Given the description of an element on the screen output the (x, y) to click on. 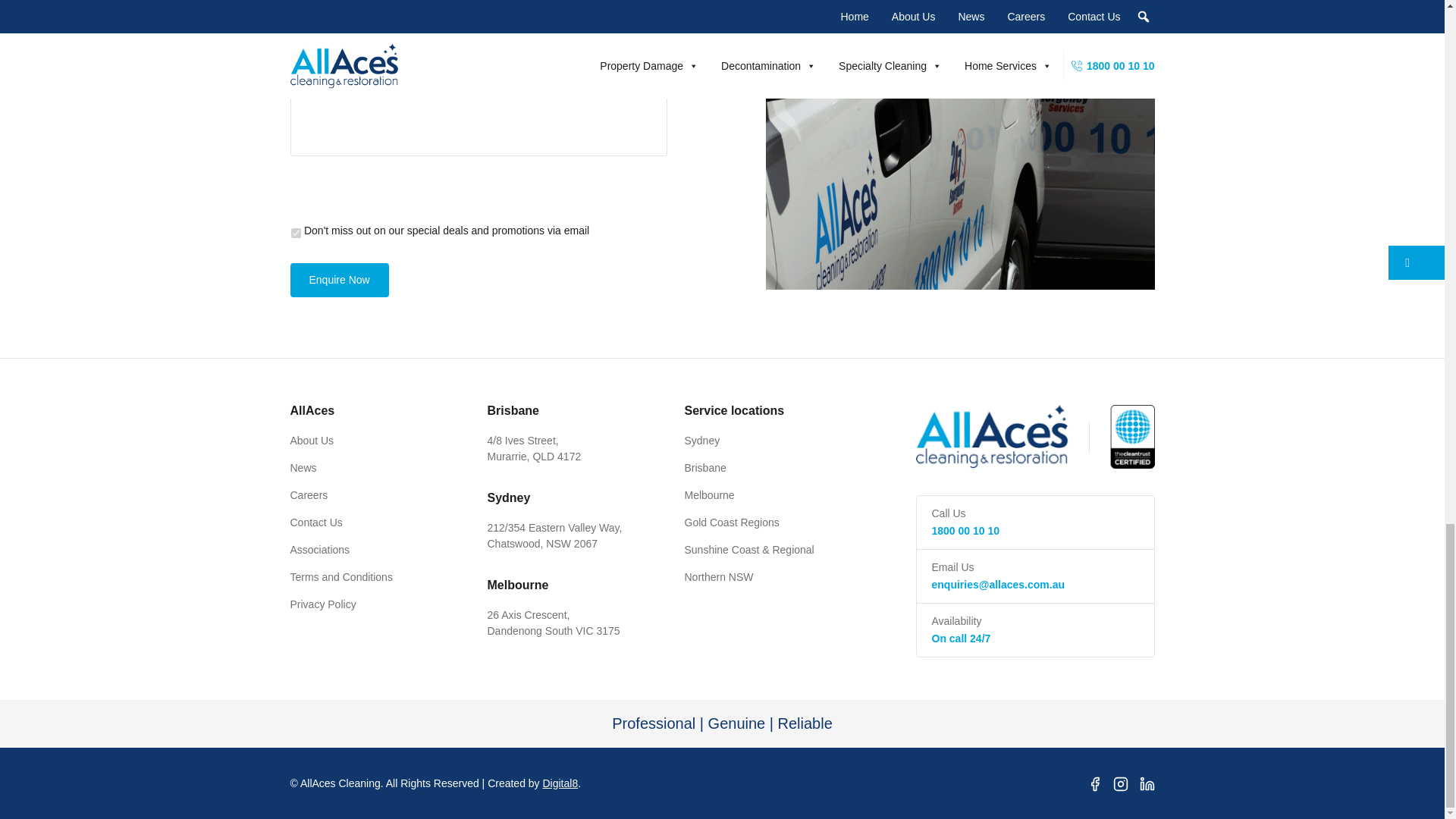
Enquire Now (338, 279)
Don't miss out on our special deals and promotions via email (296, 233)
